Given the description of an element on the screen output the (x, y) to click on. 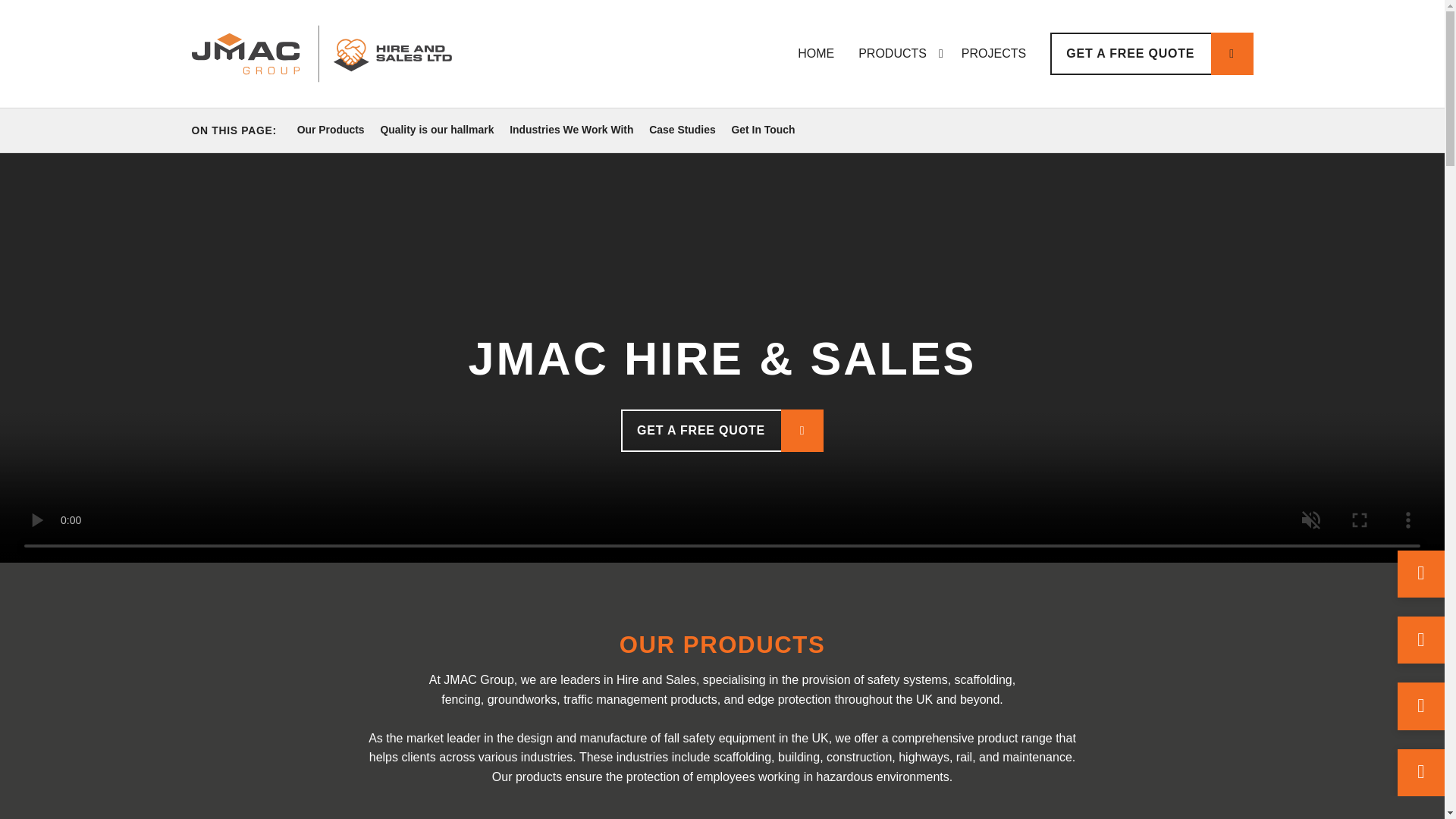
Quality is our hallmark (436, 129)
JMAC Group (320, 53)
Case Studies (681, 129)
GET A FREE QUOTE (722, 430)
PRODUCTS (889, 53)
Our Products (331, 129)
GET A FREE QUOTE (1150, 53)
Get In Touch (763, 129)
PROJECTS (993, 53)
Industries We Work With (571, 129)
